Given the description of an element on the screen output the (x, y) to click on. 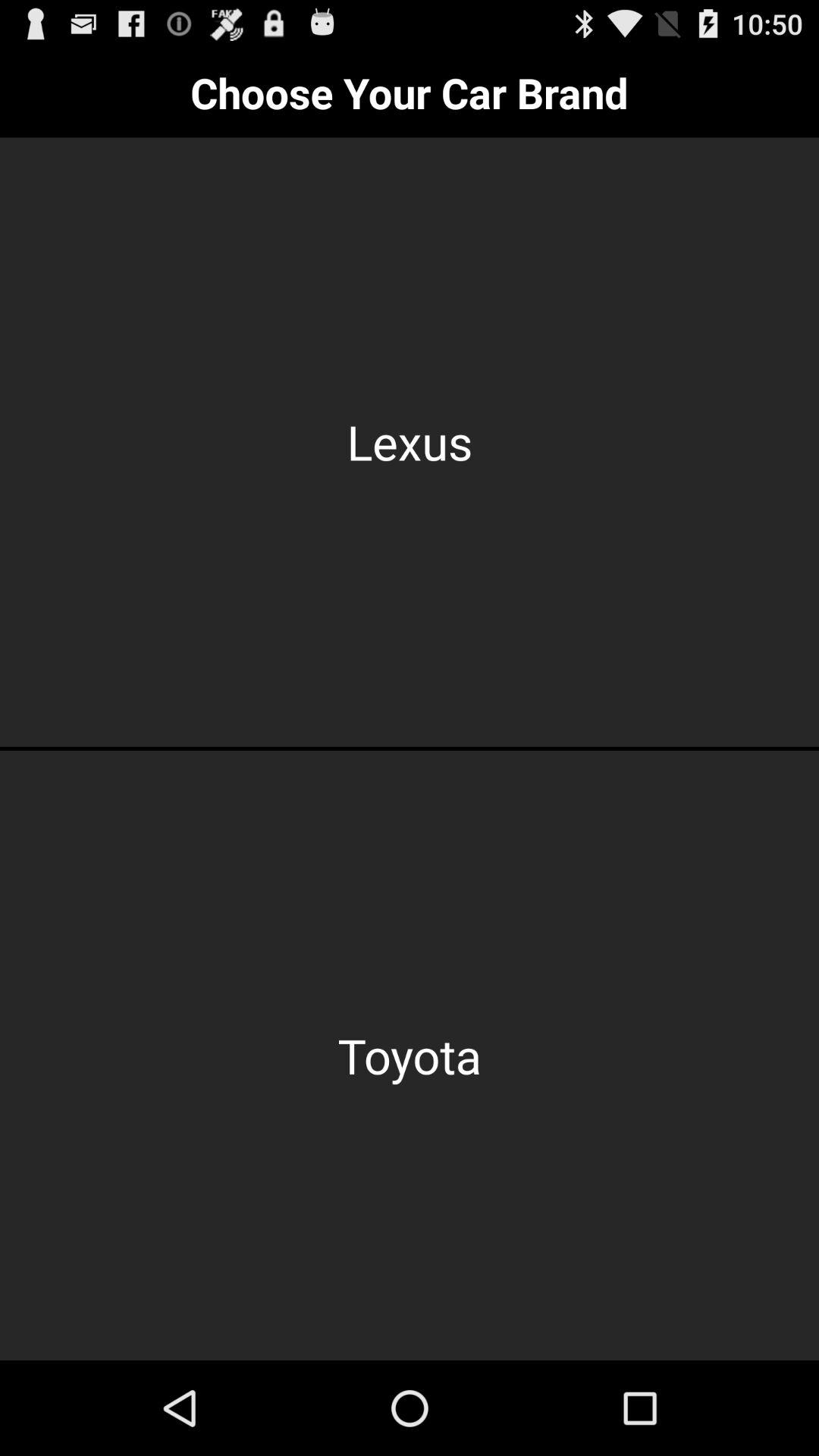
select the item below the choose your car (409, 441)
